Given the description of an element on the screen output the (x, y) to click on. 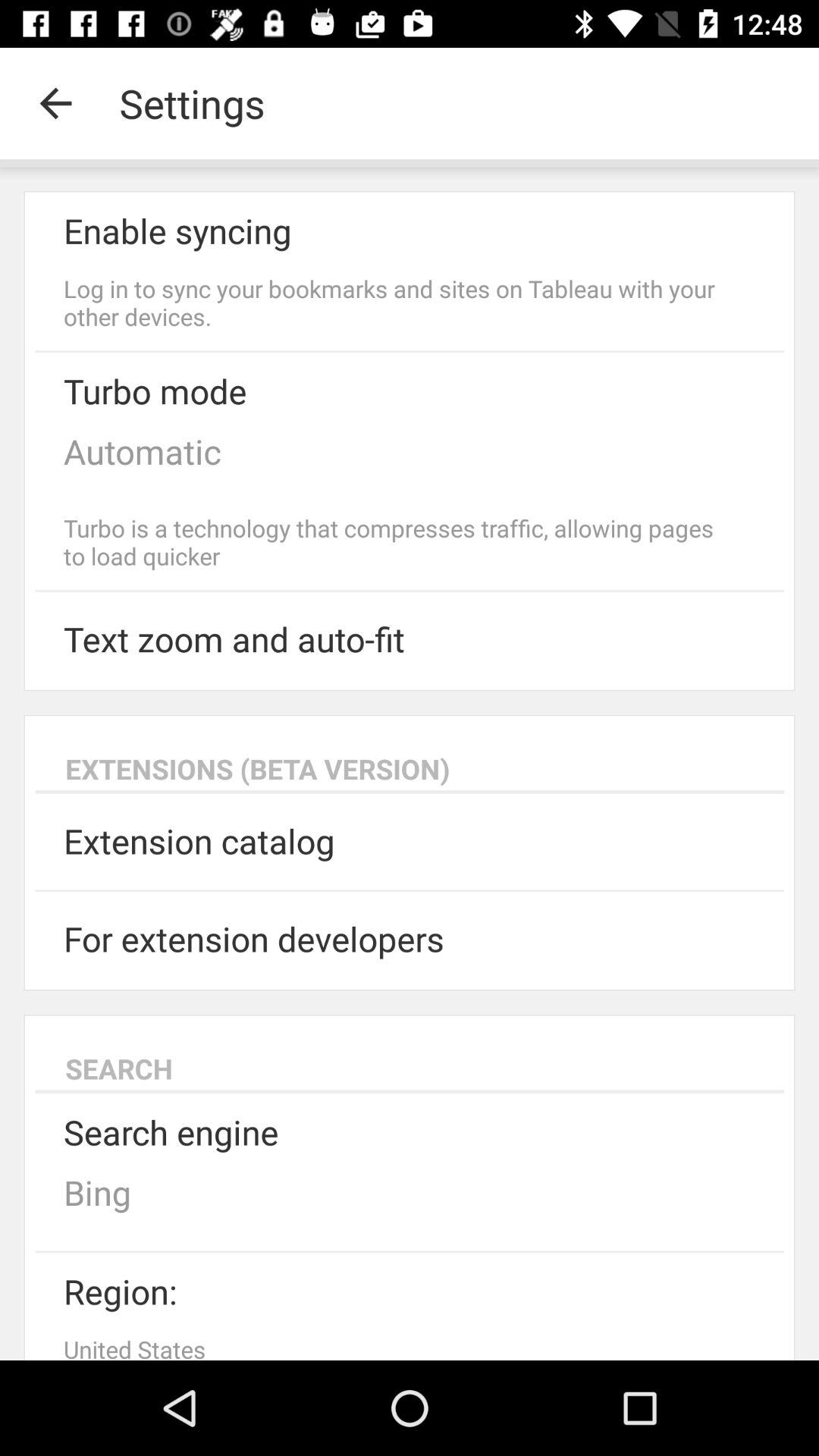
press the item to the left of the settings item (55, 103)
